Given the description of an element on the screen output the (x, y) to click on. 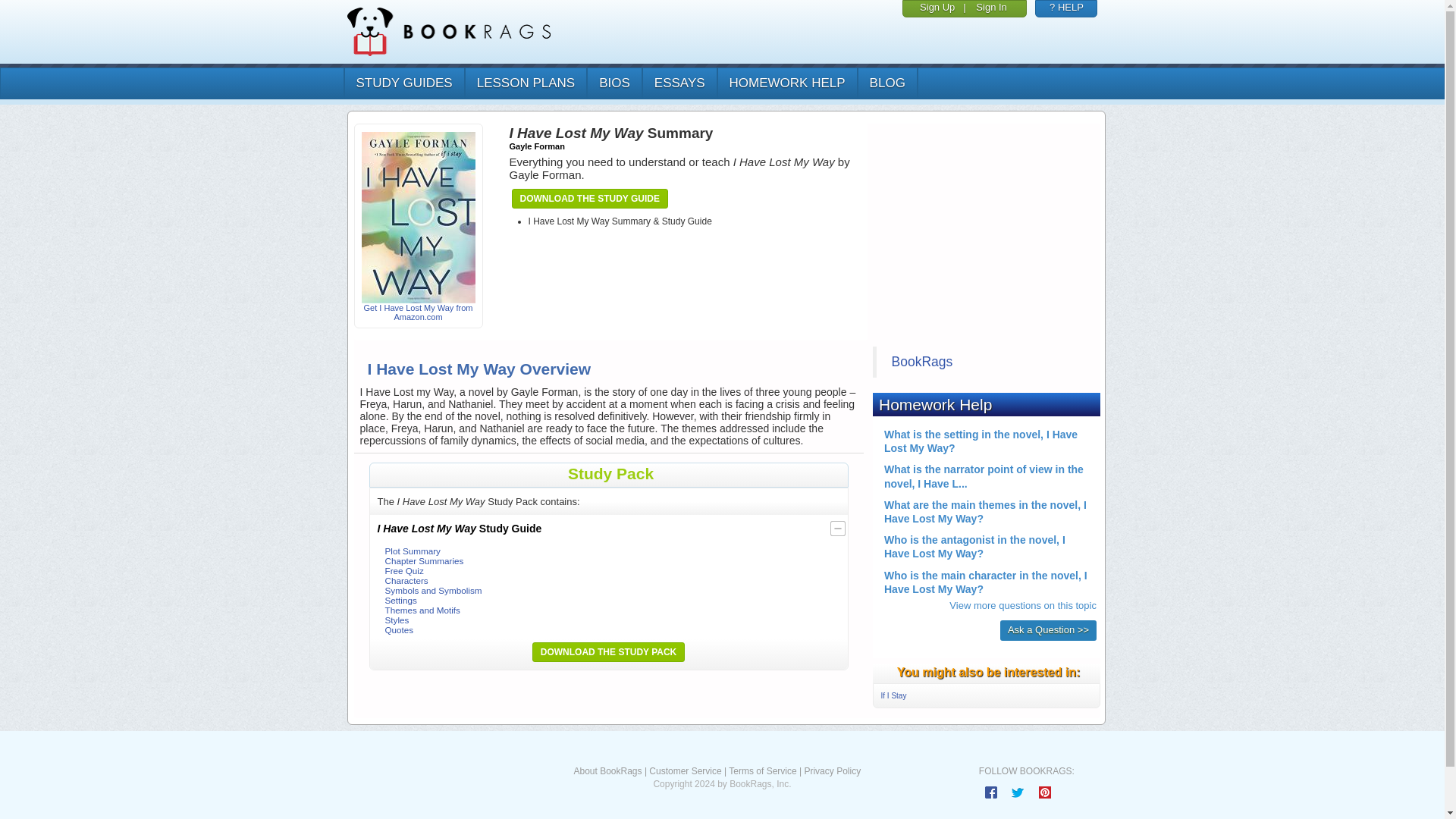
If I Stay (893, 695)
Plot Summary (413, 551)
DOWNLOAD THE STUDY PACK (608, 651)
Privacy Policy (831, 770)
Download the Study Guide (589, 198)
Customer Service (684, 770)
Characters (406, 580)
About BookRags (607, 770)
ESSAYS (679, 82)
Download the Study Pack (608, 651)
BIOS (614, 82)
BLOG (887, 82)
Styles (397, 619)
Terms of Service (762, 770)
? HELP (1066, 7)
